Given the description of an element on the screen output the (x, y) to click on. 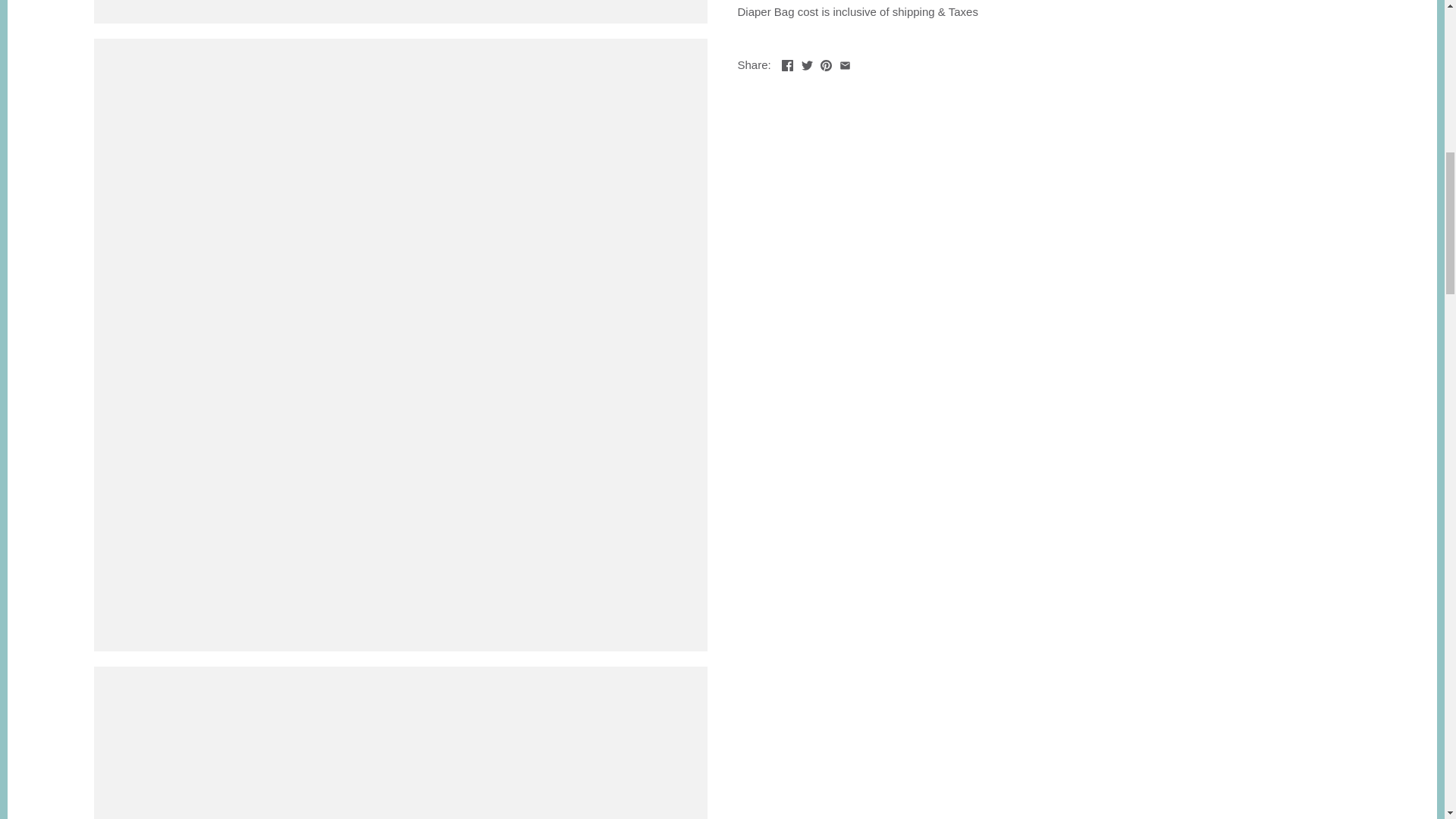
Email (845, 65)
Pinterest (826, 65)
Facebook (787, 65)
Share on Twitter (807, 62)
Twitter (807, 65)
Share using email (845, 62)
Pin the main image (826, 62)
Share on Facebook (787, 62)
